Given the description of an element on the screen output the (x, y) to click on. 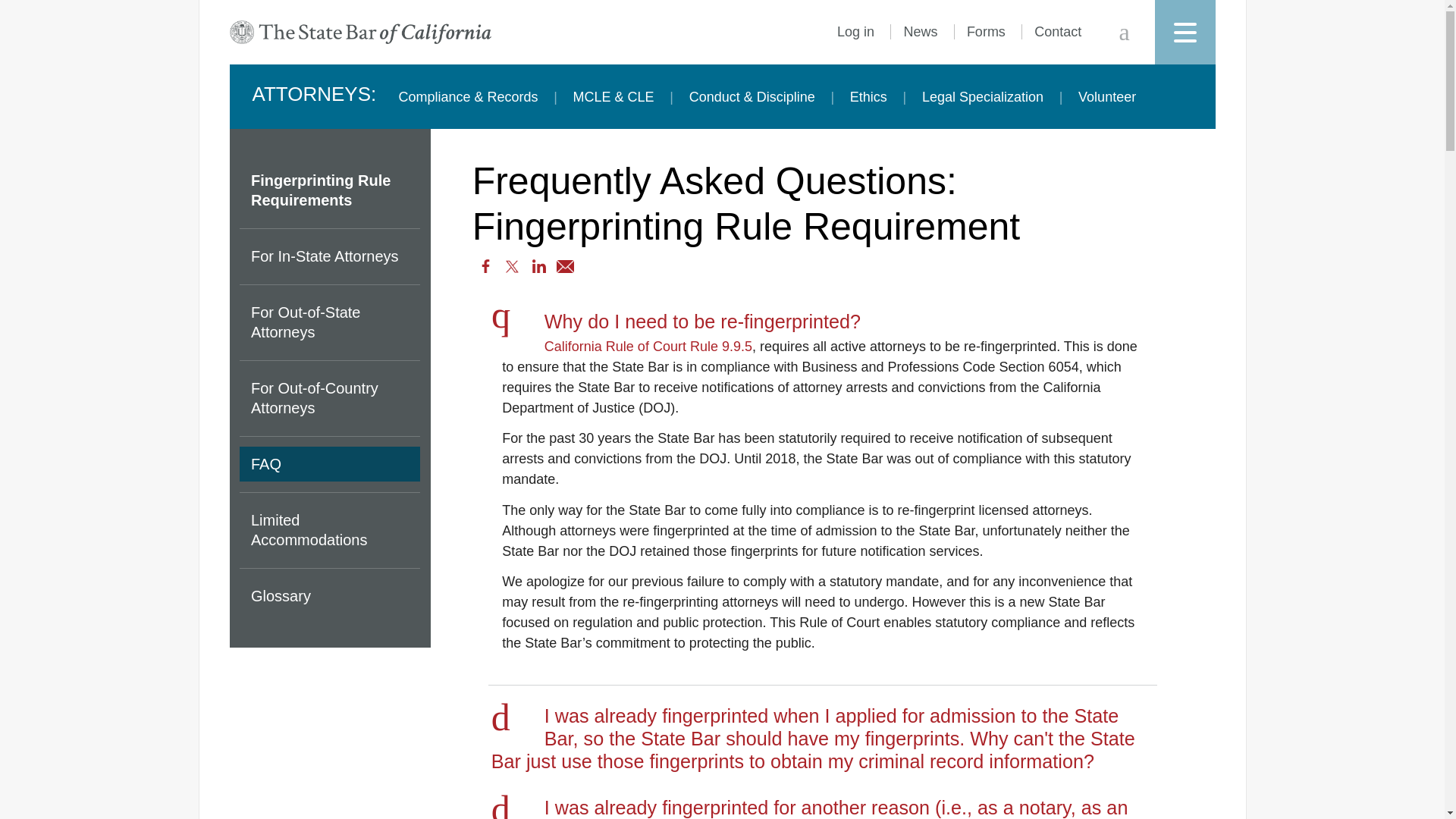
Contact (1057, 31)
The State Bar of California (360, 32)
Log in (856, 31)
Forms (986, 31)
Share on LinkedIn (538, 266)
Volunteer (1106, 96)
ATTORNEYS: (313, 96)
Legal Specialization (983, 96)
Forms (986, 31)
News (919, 31)
